Given the description of an element on the screen output the (x, y) to click on. 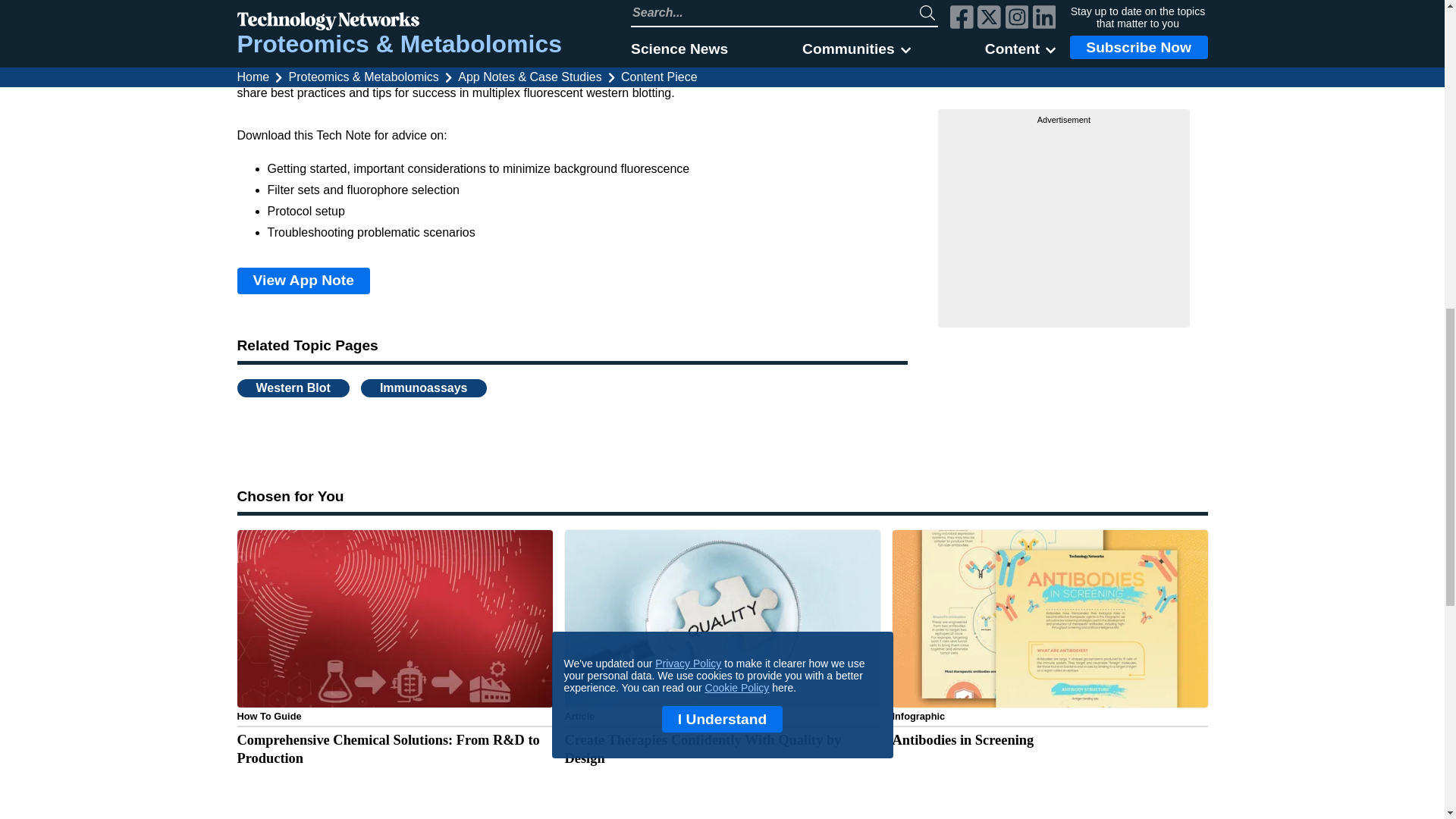
Click to view "Antibodies in Screening" (1049, 664)
